Given the description of an element on the screen output the (x, y) to click on. 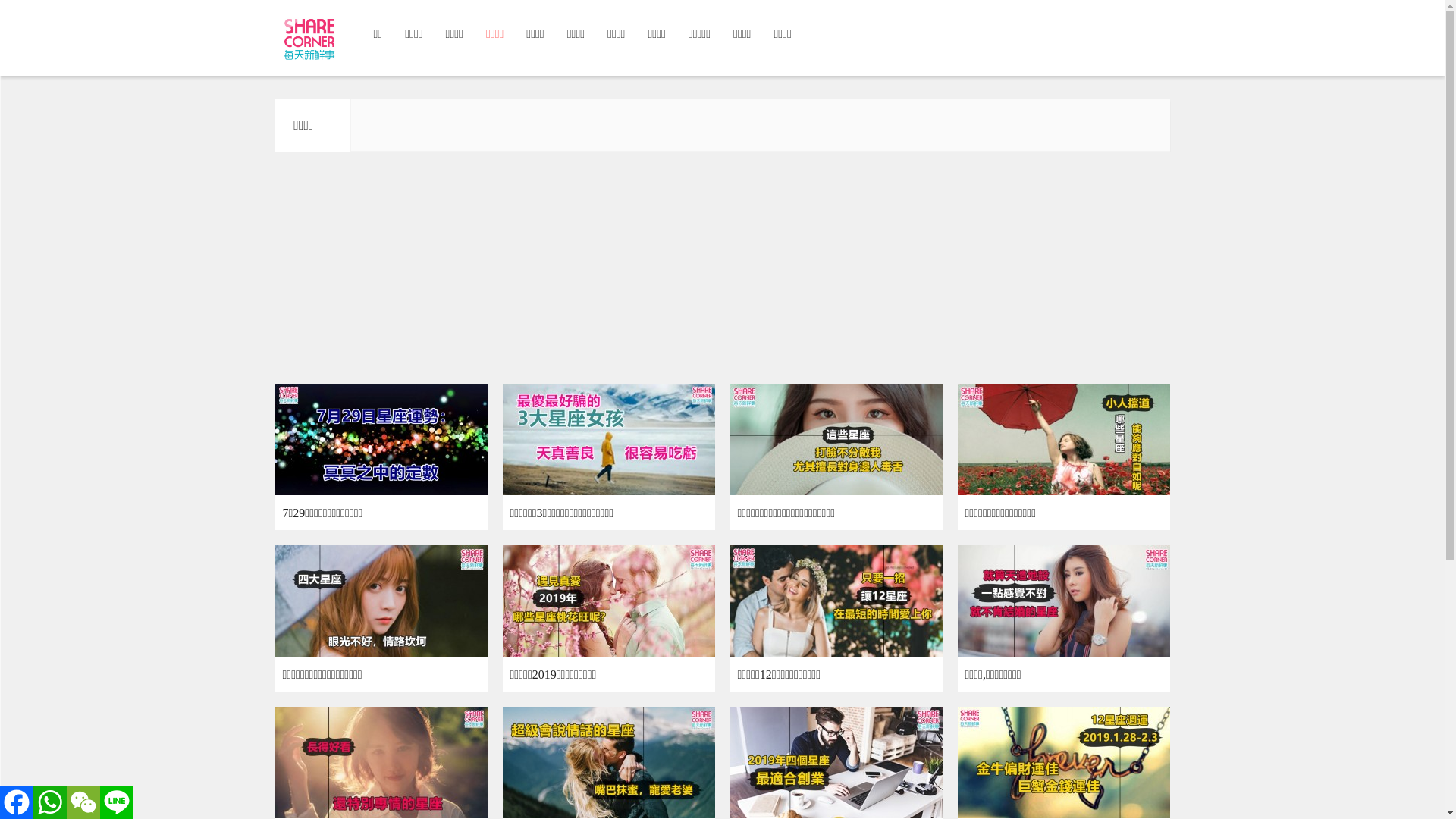
Advertisement Element type: hover (721, 271)
